Given the description of an element on the screen output the (x, y) to click on. 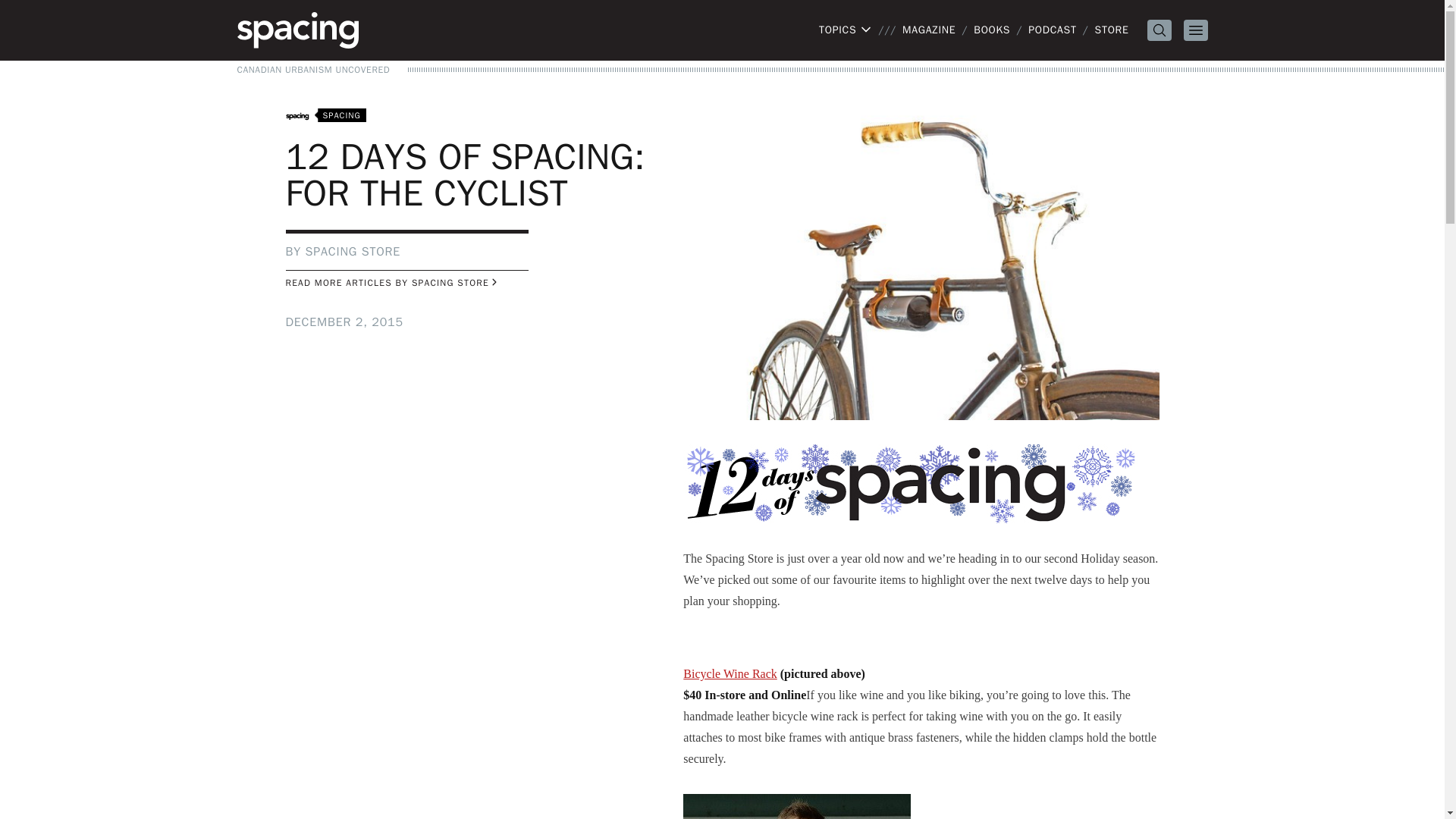
TOPICS (845, 29)
BOOKS (992, 29)
MAGAZINE (928, 29)
